Given the description of an element on the screen output the (x, y) to click on. 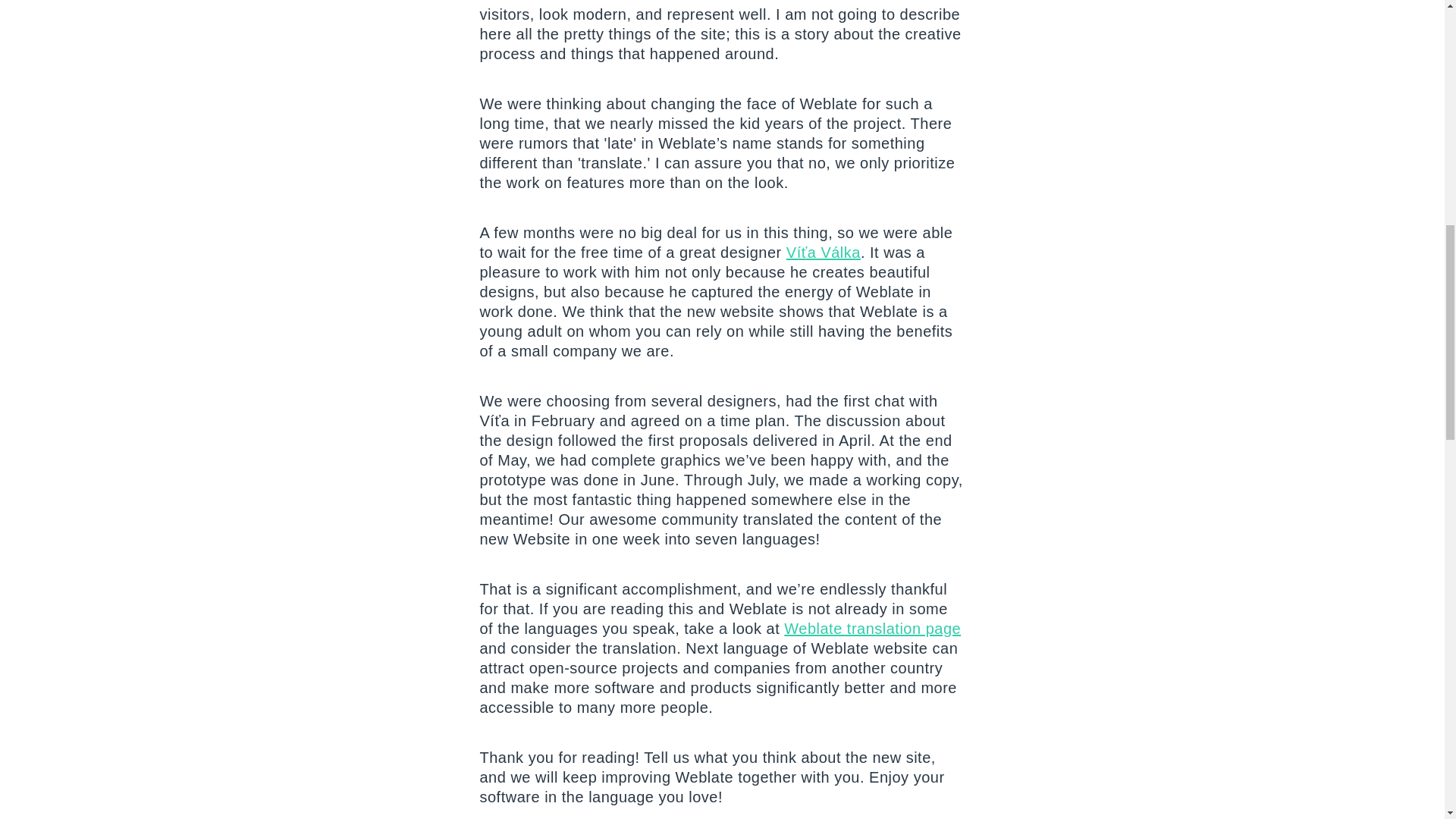
Weblate translation page (872, 628)
